Given the description of an element on the screen output the (x, y) to click on. 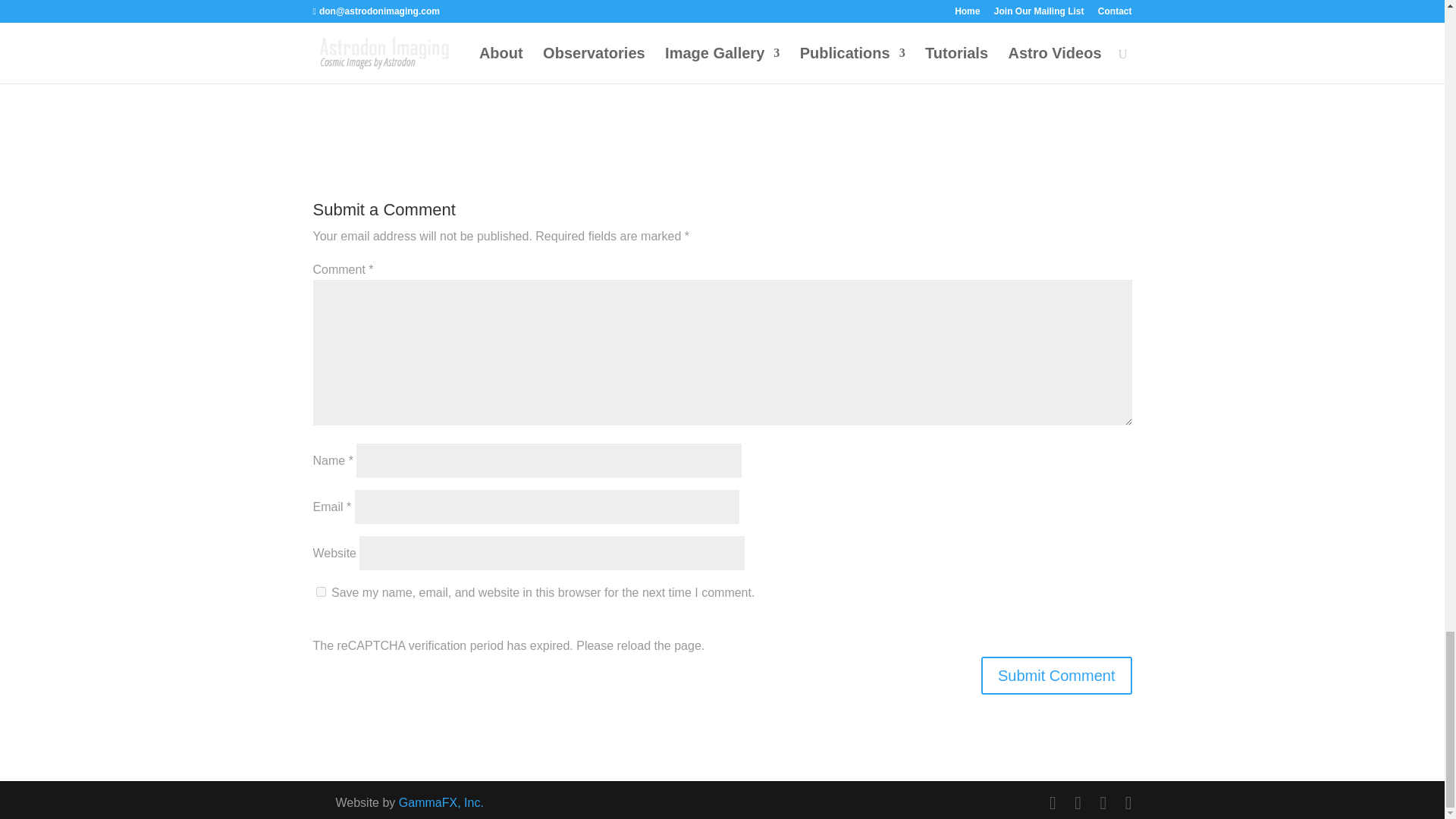
Professional WordPress Design and Development (440, 802)
yes (319, 592)
Submit Comment (1056, 675)
Submit Comment (1056, 675)
GammaFX, Inc. (440, 802)
